Given the description of an element on the screen output the (x, y) to click on. 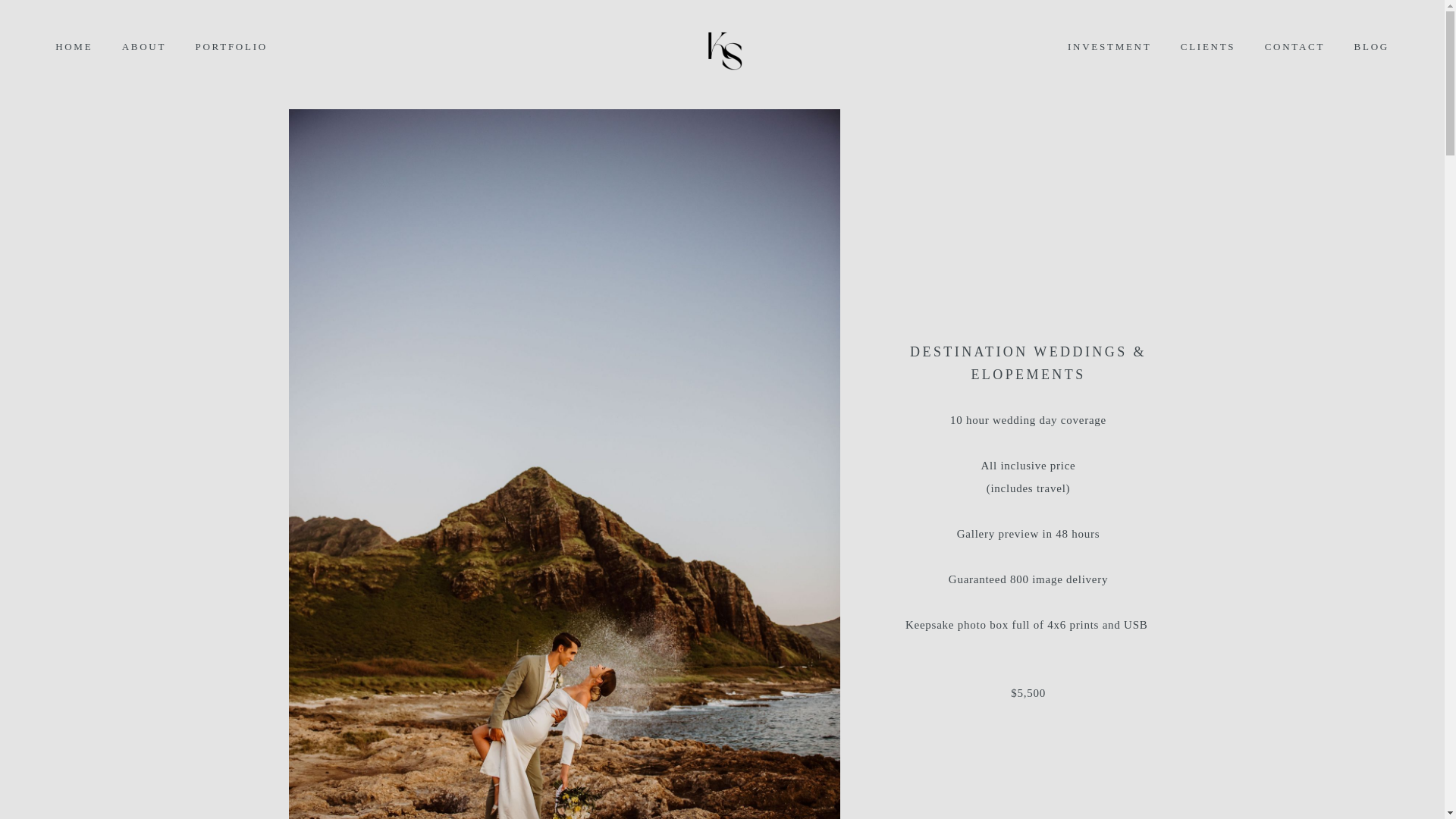
CONTACT (1294, 46)
INVESTMENT (1109, 46)
ABOUT (143, 46)
CLIENTS (1208, 46)
HOME (73, 46)
BLOG (1371, 46)
PORTFOLIO (231, 46)
